Given the description of an element on the screen output the (x, y) to click on. 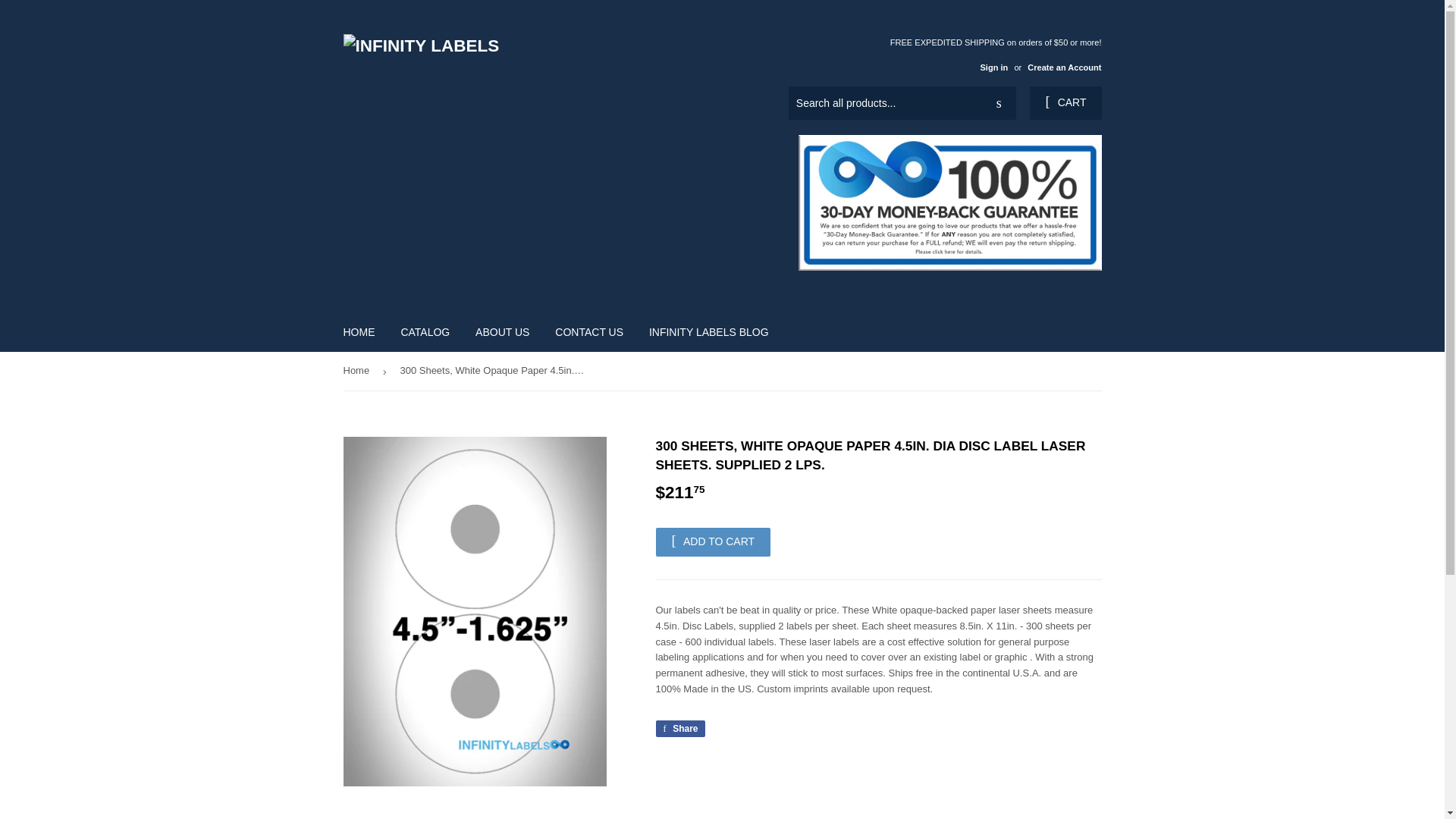
HOME (359, 332)
ADD TO CART (712, 541)
CART (1064, 102)
Search (998, 103)
Sign in (993, 67)
ABOUT US (502, 332)
CATALOG (424, 332)
CONTACT US (679, 728)
Create an Account (588, 332)
INFINITY LABELS BLOG (1063, 67)
Share on Facebook (708, 332)
